Given the description of an element on the screen output the (x, y) to click on. 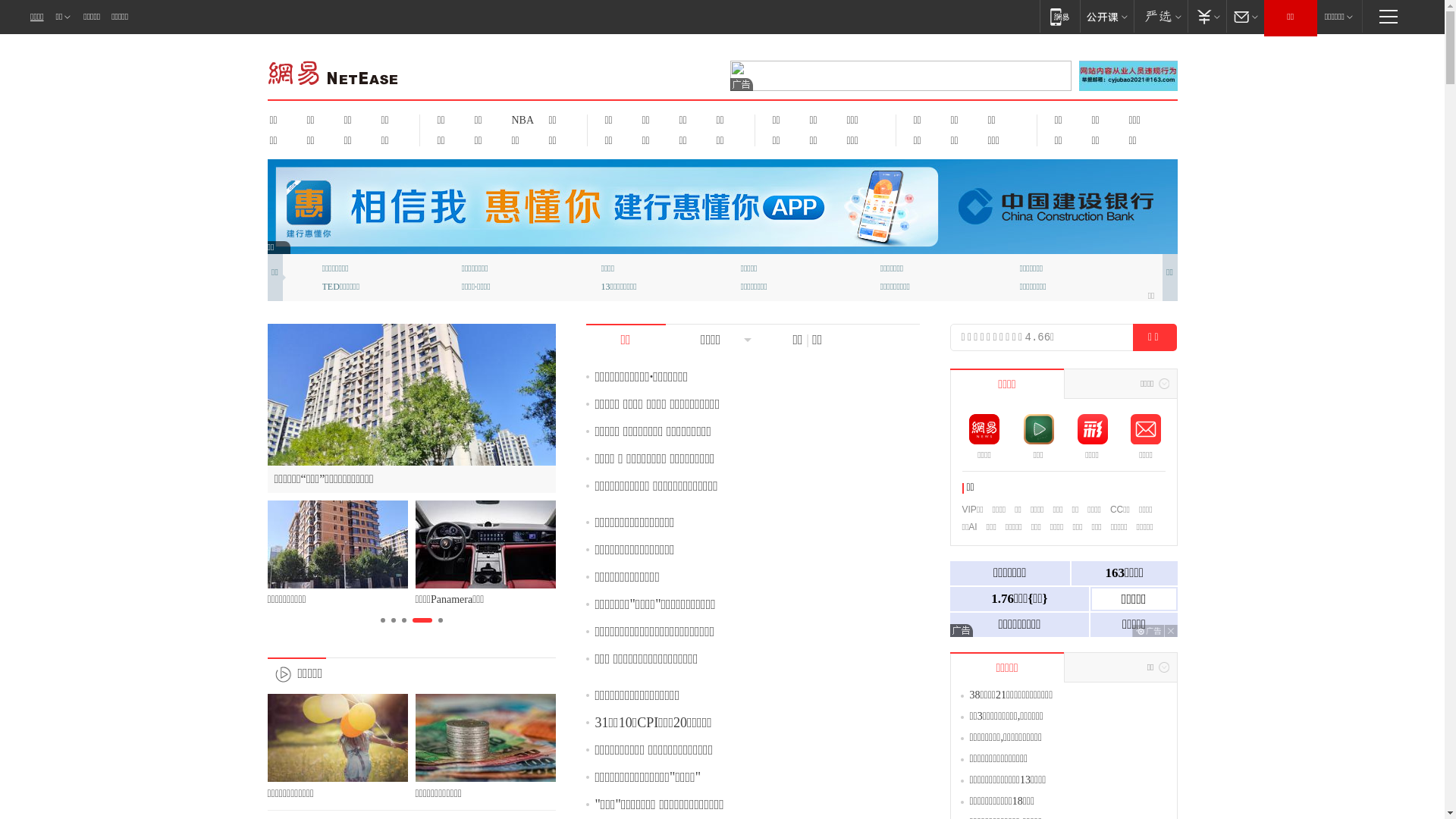
NBA Element type: text (520, 119)
